Given the description of an element on the screen output the (x, y) to click on. 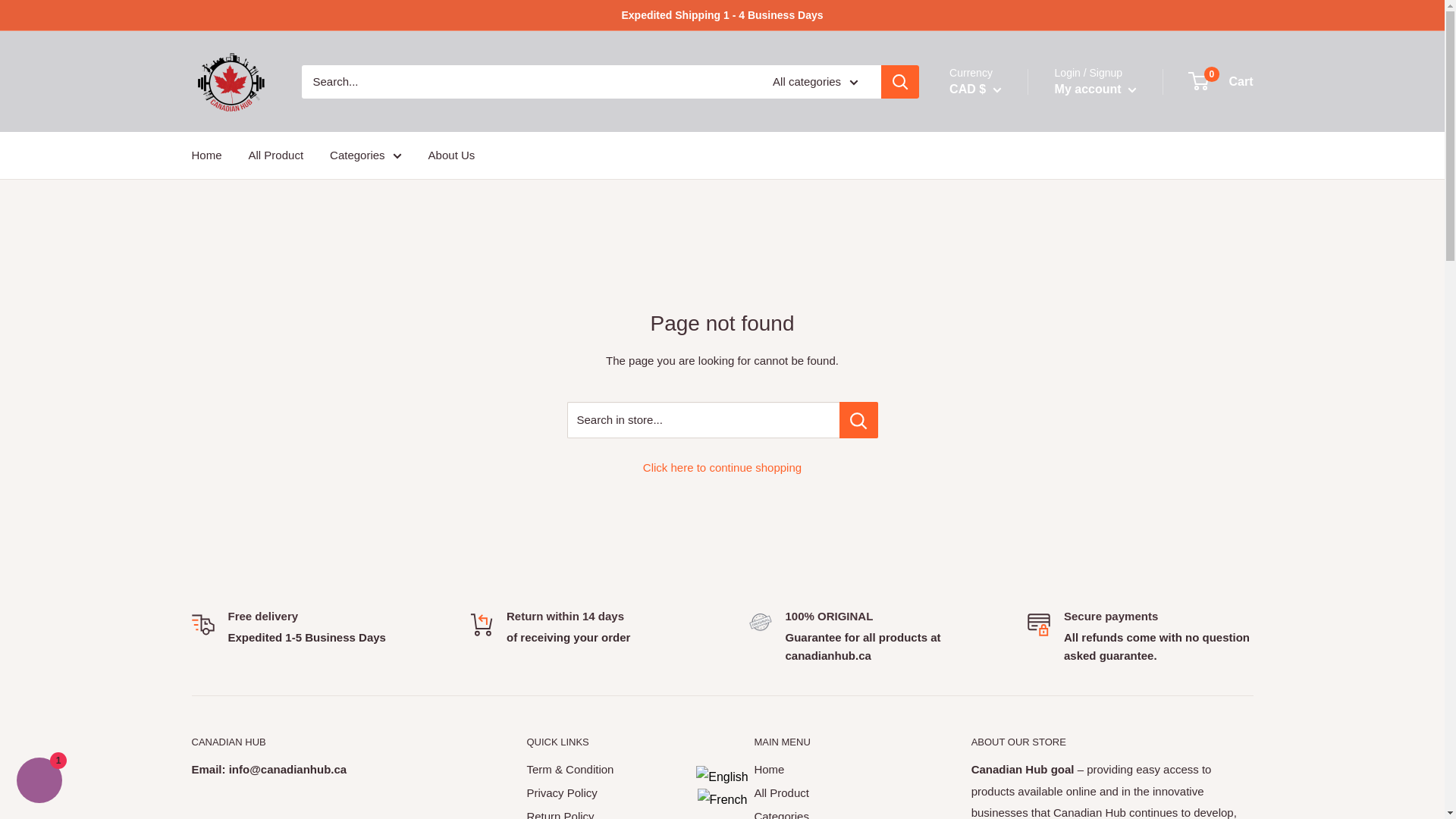
Shopify online store chat (38, 781)
